Given the description of an element on the screen output the (x, y) to click on. 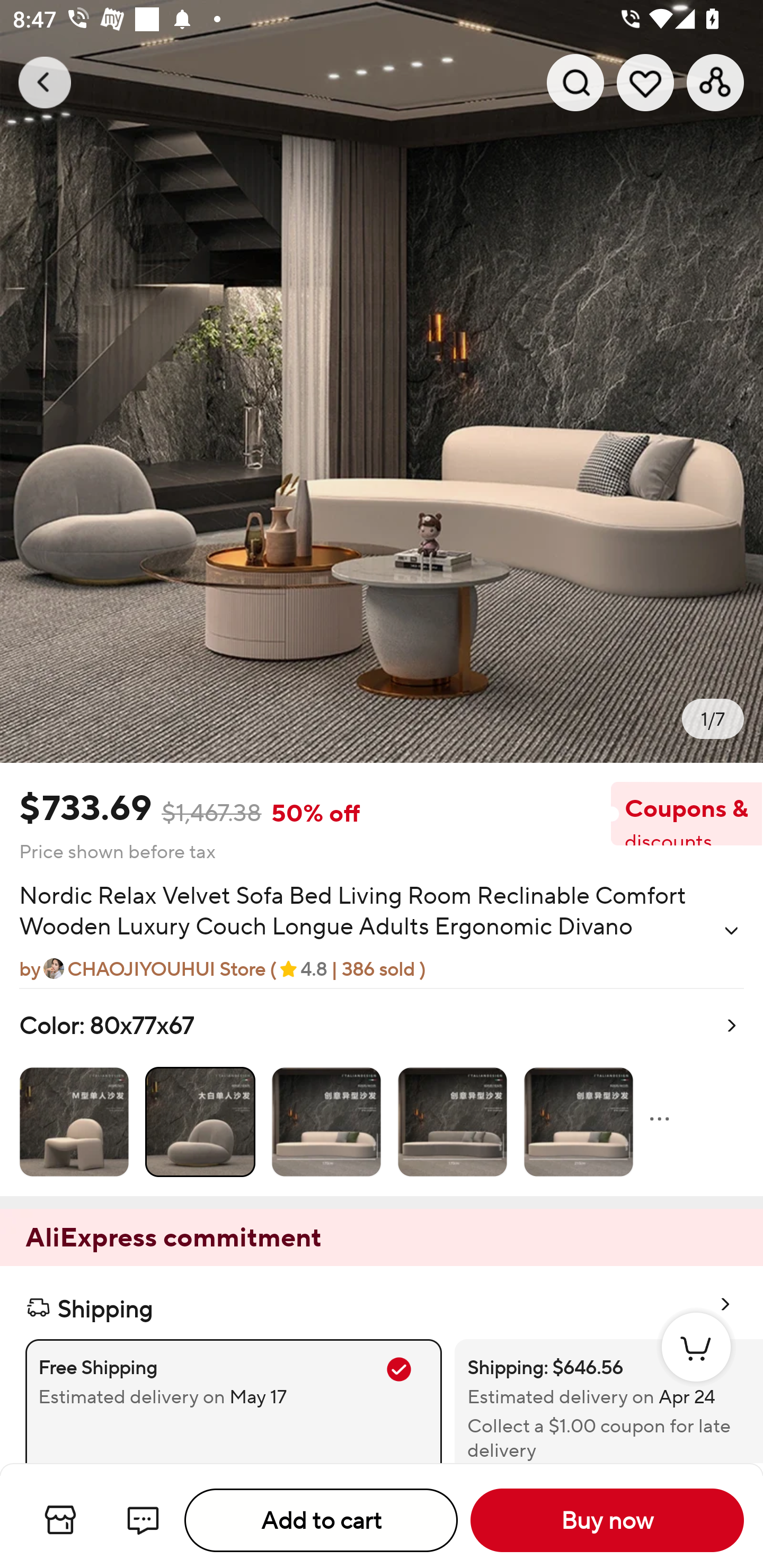
Navigate up (44, 82)
 (730, 930)
Color: 80x77x67  (381, 1092)
Free Shipping  Estimated delivery on May 17  (233, 1400)
Add to cart (320, 1520)
Buy now (606, 1520)
